Given the description of an element on the screen output the (x, y) to click on. 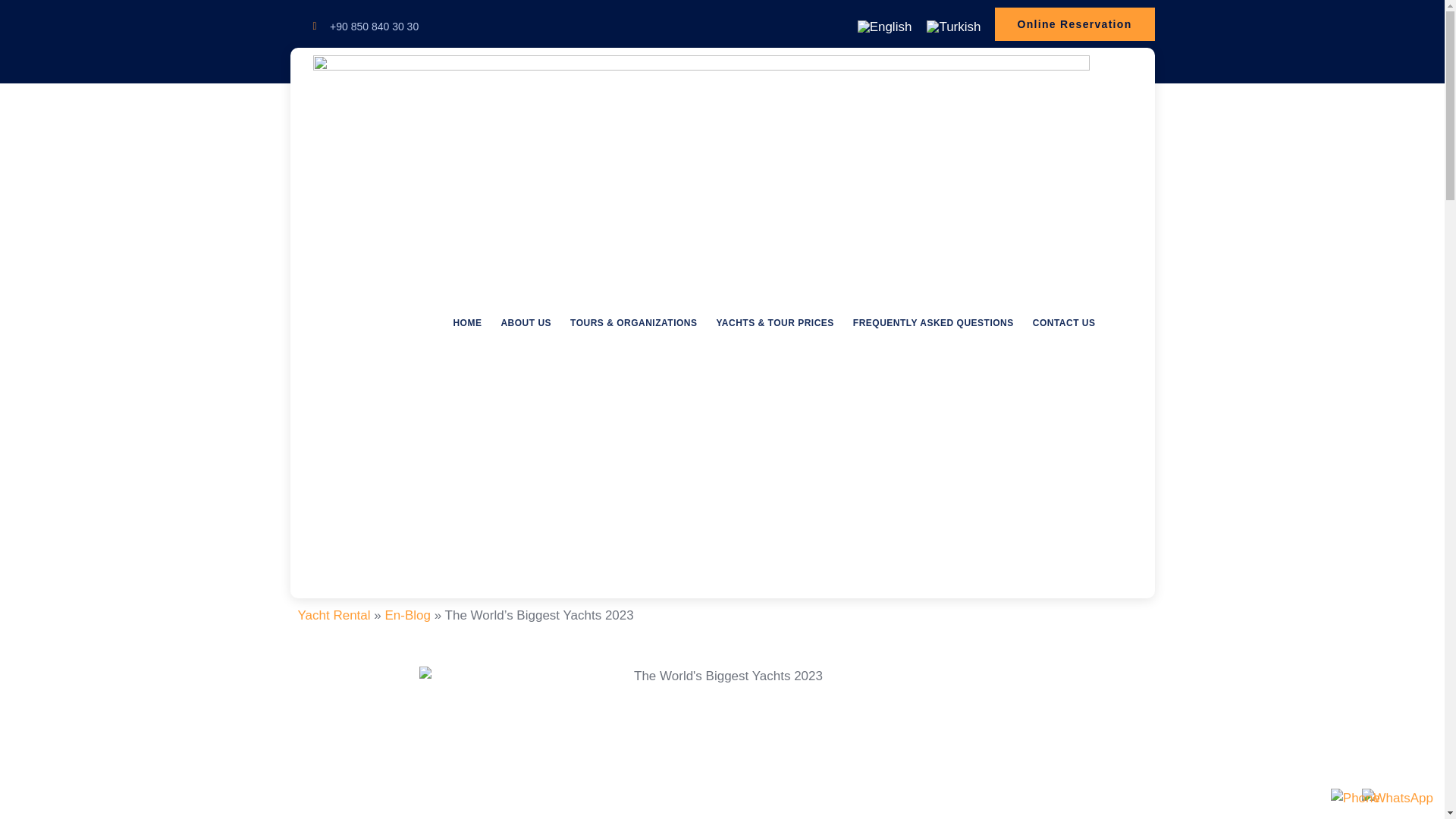
Online Reservation (1074, 23)
En-Blog (406, 615)
HOME (457, 322)
CONTACT US (1054, 322)
FREQUENTLY ASKED QUESTIONS (923, 322)
The World's Biggest Yachts 2023 1 (722, 742)
ABOUT US (516, 322)
Yacht Rental (333, 615)
